Given the description of an element on the screen output the (x, y) to click on. 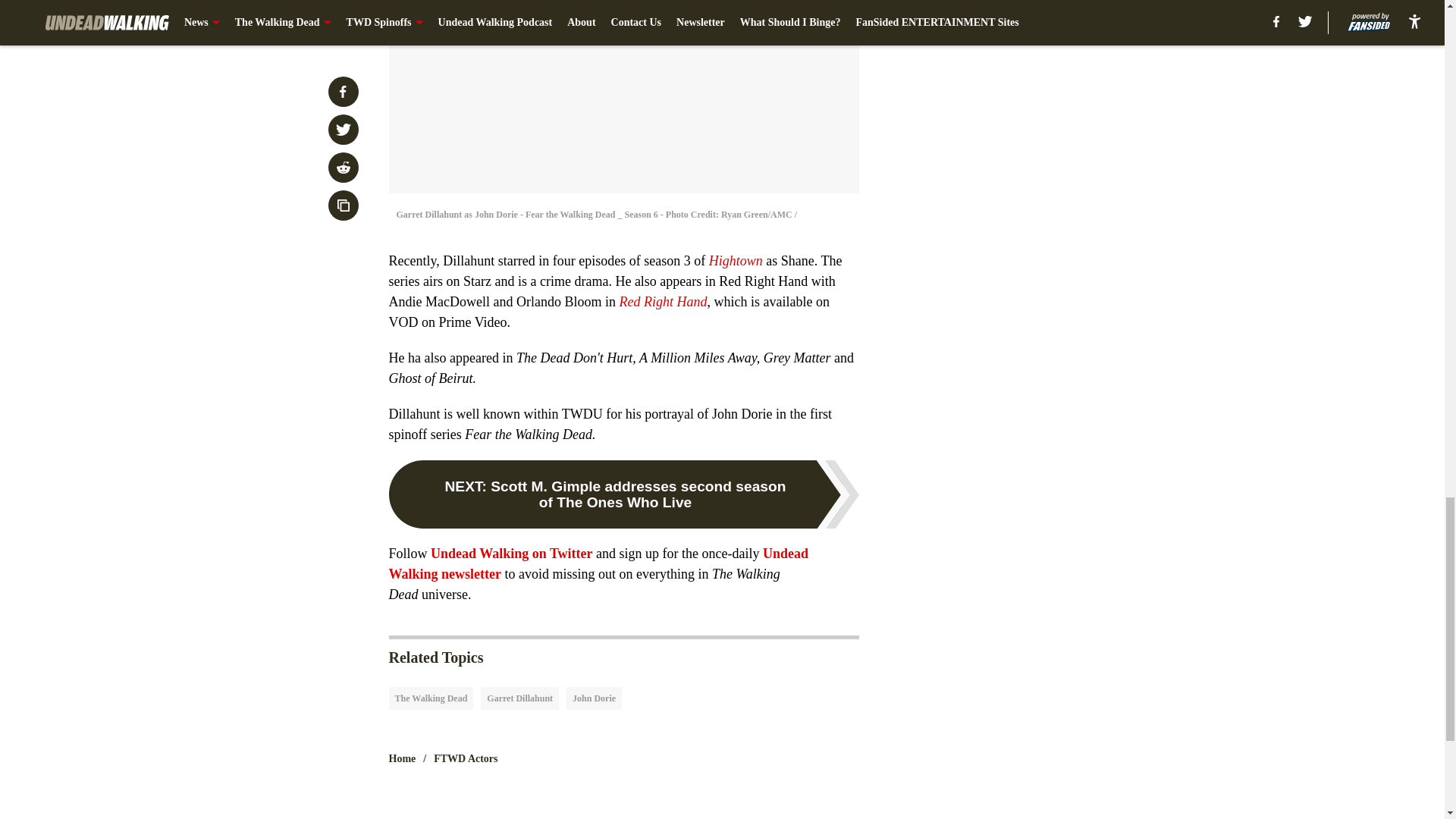
Undead Walking on Twitter (511, 553)
Hightown (735, 260)
Red Right Hand (662, 301)
